Given the description of an element on the screen output the (x, y) to click on. 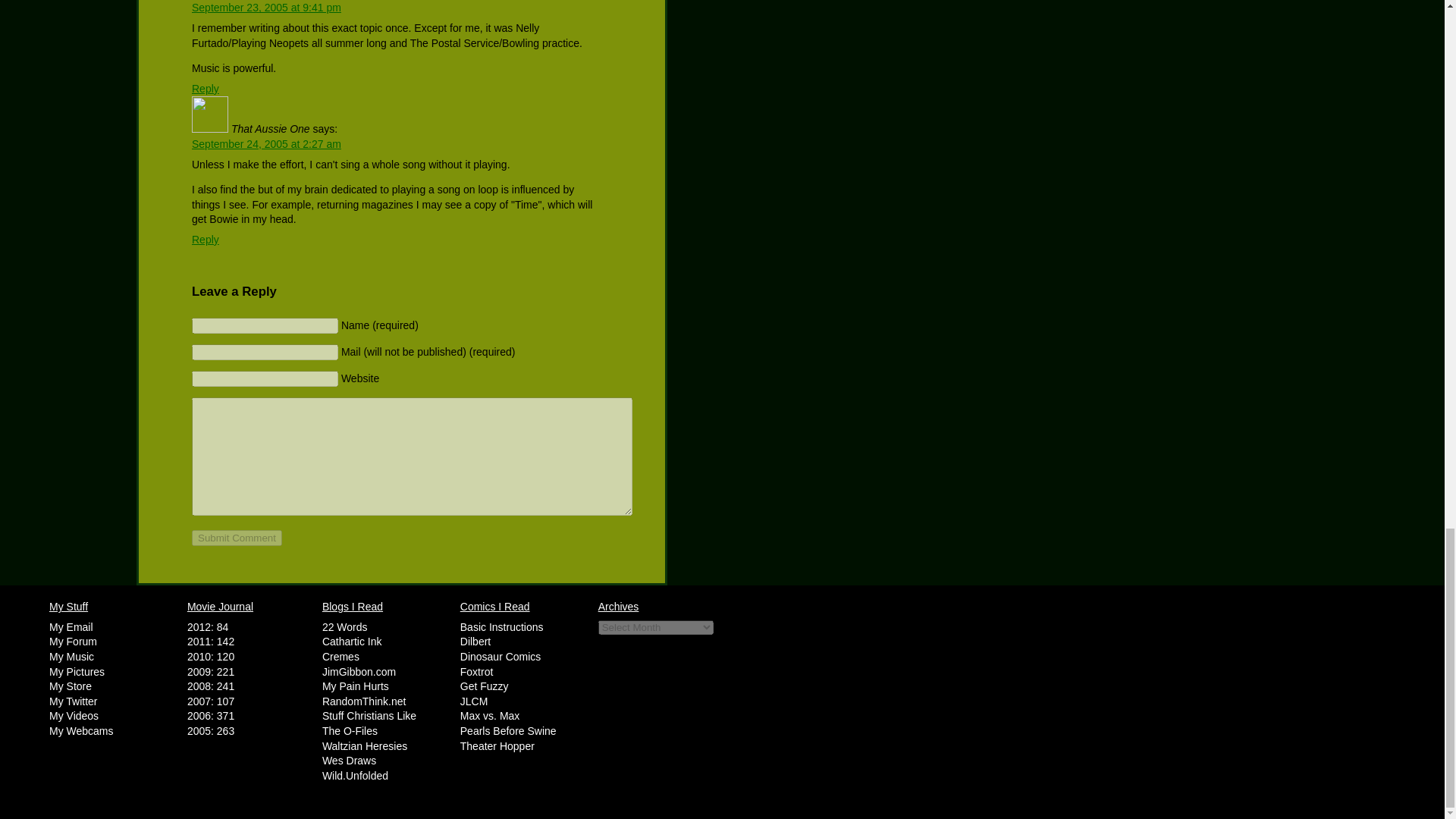
My Forum (73, 641)
My Videos (74, 715)
My Music (71, 656)
My Webcams (81, 730)
22 Words (344, 626)
Reply (205, 88)
Cremes (340, 656)
My Twitter (73, 701)
My Store (70, 686)
Stuff Christians Like (368, 715)
